Given the description of an element on the screen output the (x, y) to click on. 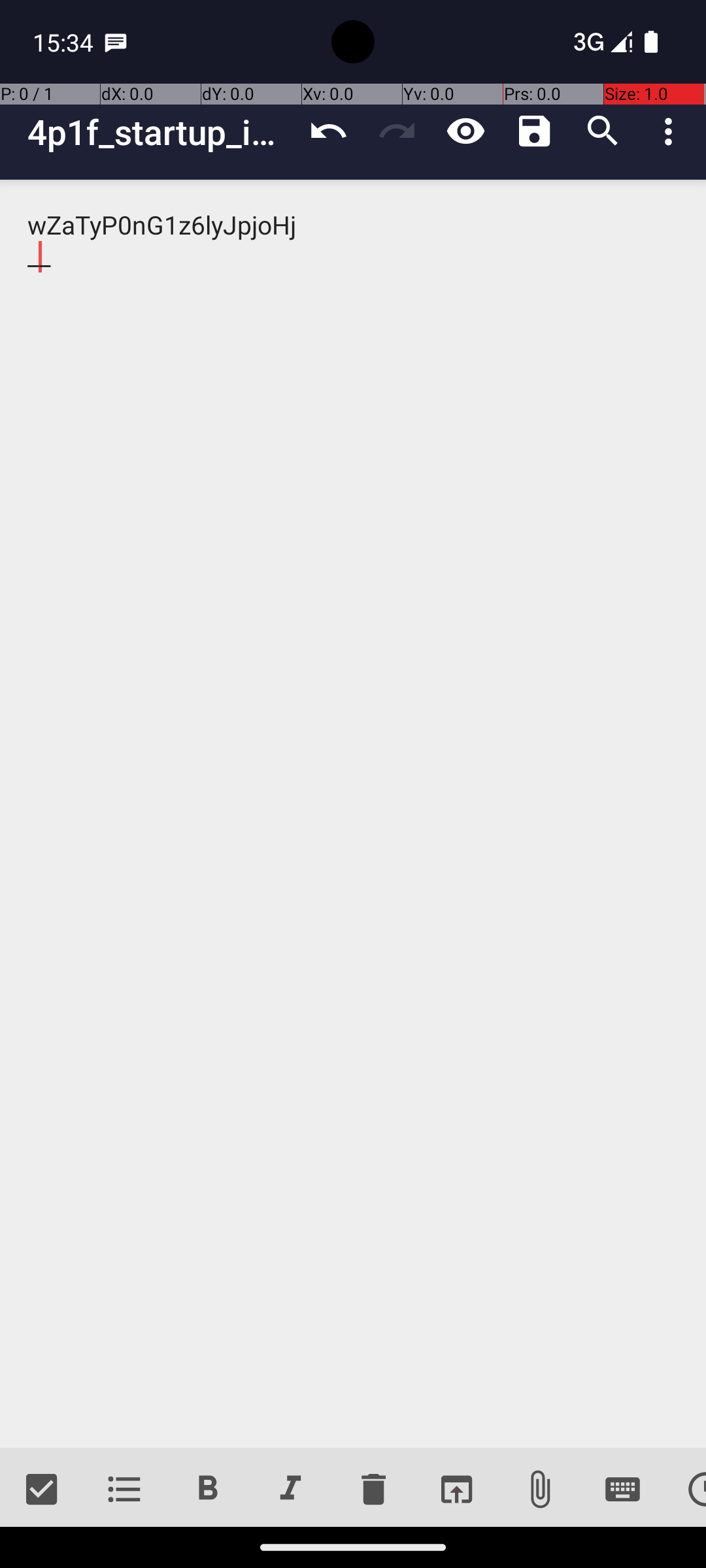
4p1f_startup_ideas_launch Element type: android.widget.TextView (160, 131)
wZaTyP0nG1z6lyJpjoHj
__ Element type: android.widget.EditText (353, 813)
